Given the description of an element on the screen output the (x, y) to click on. 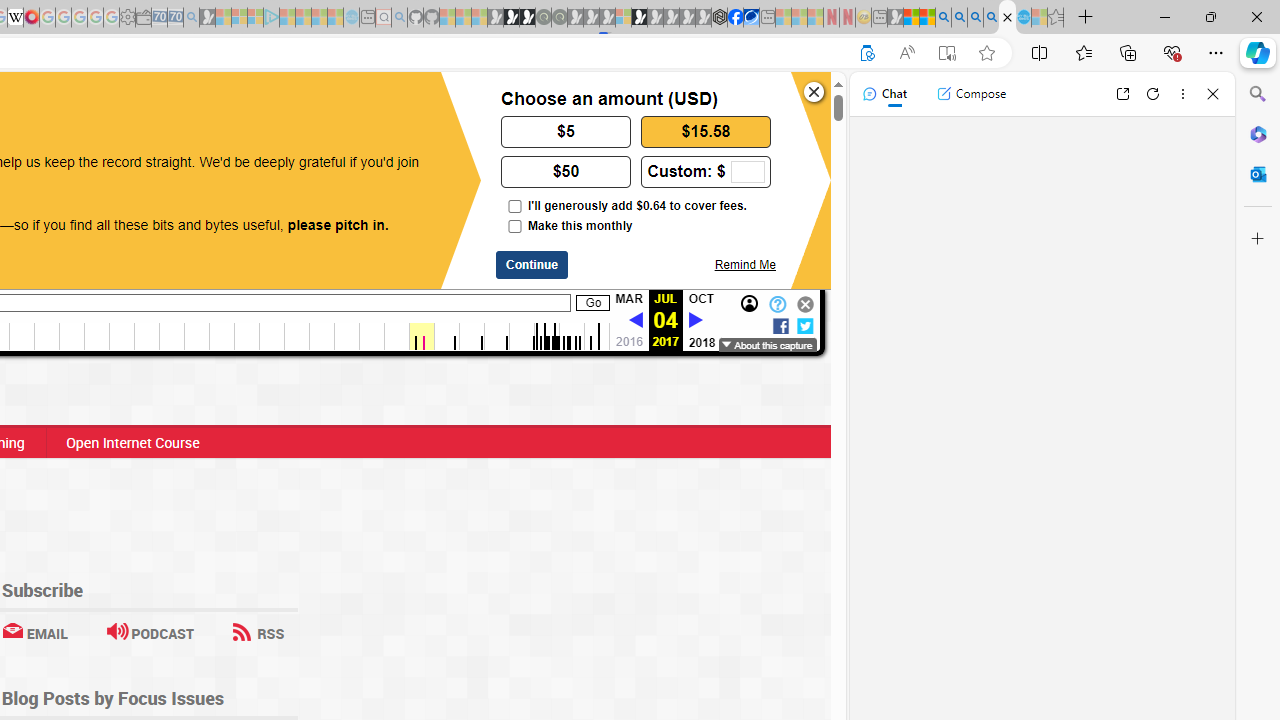
ACT NOW (98, 108)
Close banner (813, 92)
Custom: $ (705, 170)
MAR (628, 299)
Bing AI - Search (943, 17)
PODCAST (150, 632)
Next capture (695, 319)
